Given the description of an element on the screen output the (x, y) to click on. 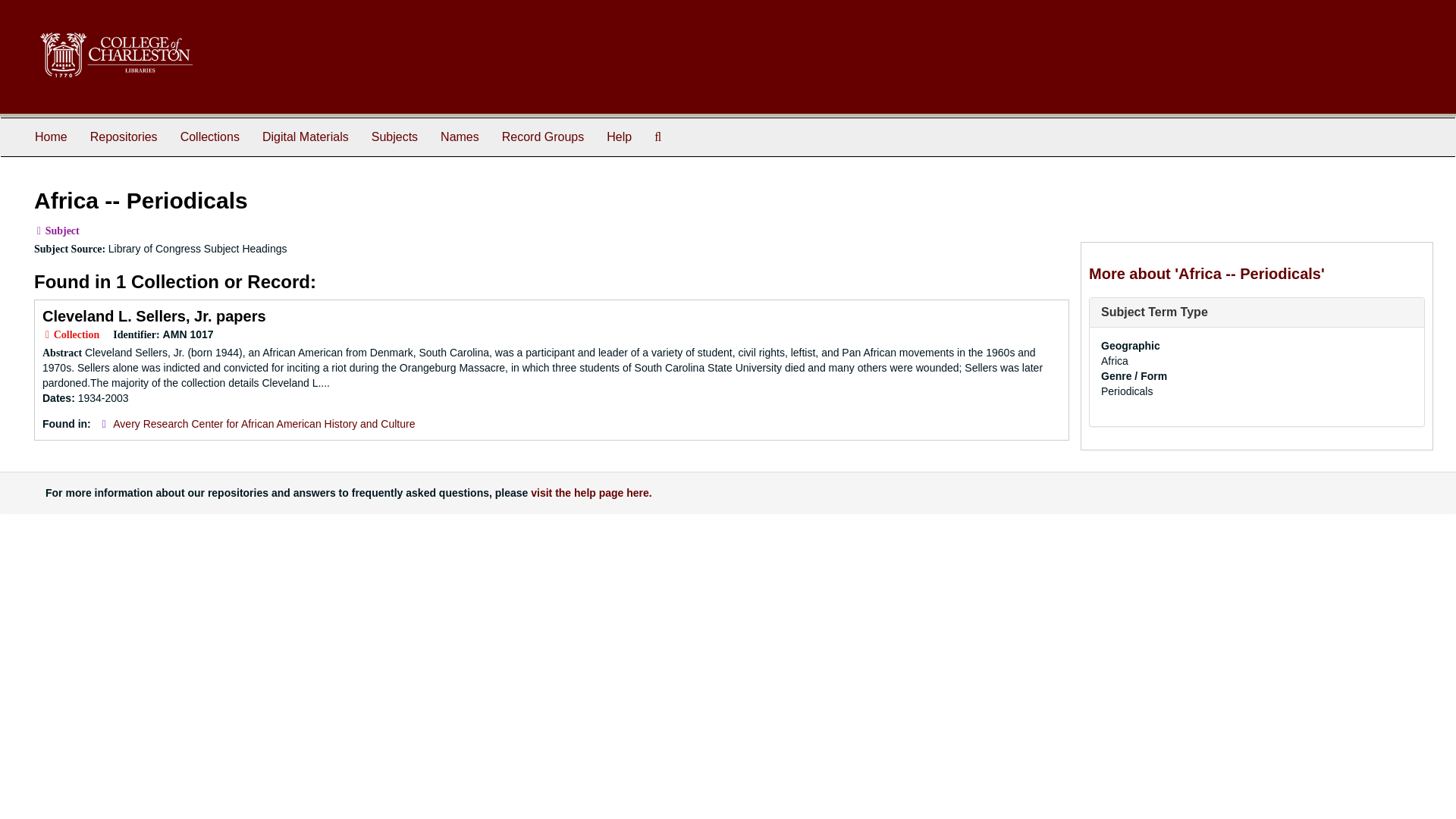
Page Actions (1139, 180)
Home (50, 136)
Names (459, 136)
Subject Term Type (1154, 311)
visit the help page here. (591, 492)
Record Groups (542, 136)
Repositories (123, 136)
Help (619, 136)
Digital Materials (304, 136)
